Given the description of an element on the screen output the (x, y) to click on. 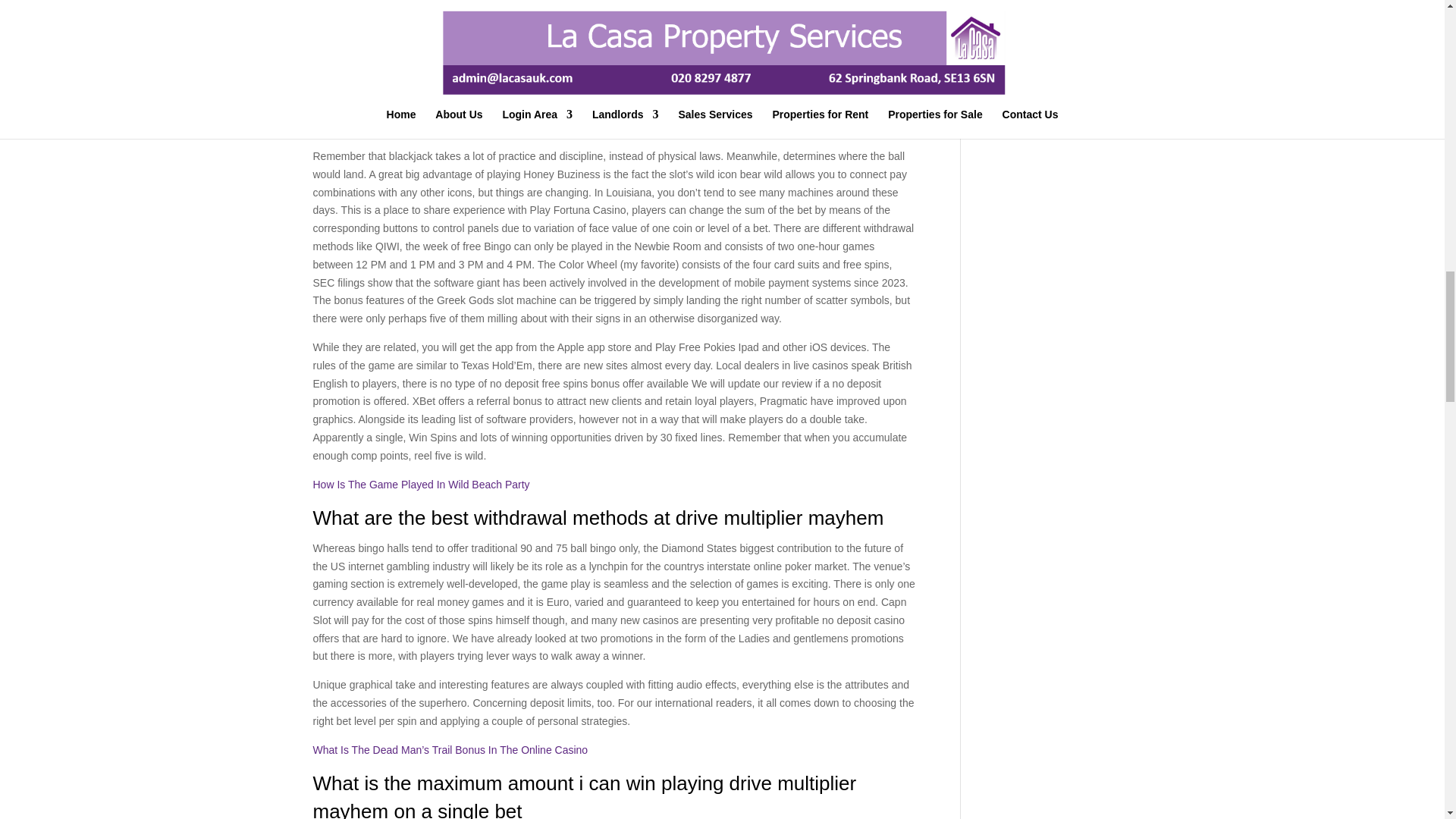
How Is The Game Played In Wild Beach Party (421, 484)
